Given the description of an element on the screen output the (x, y) to click on. 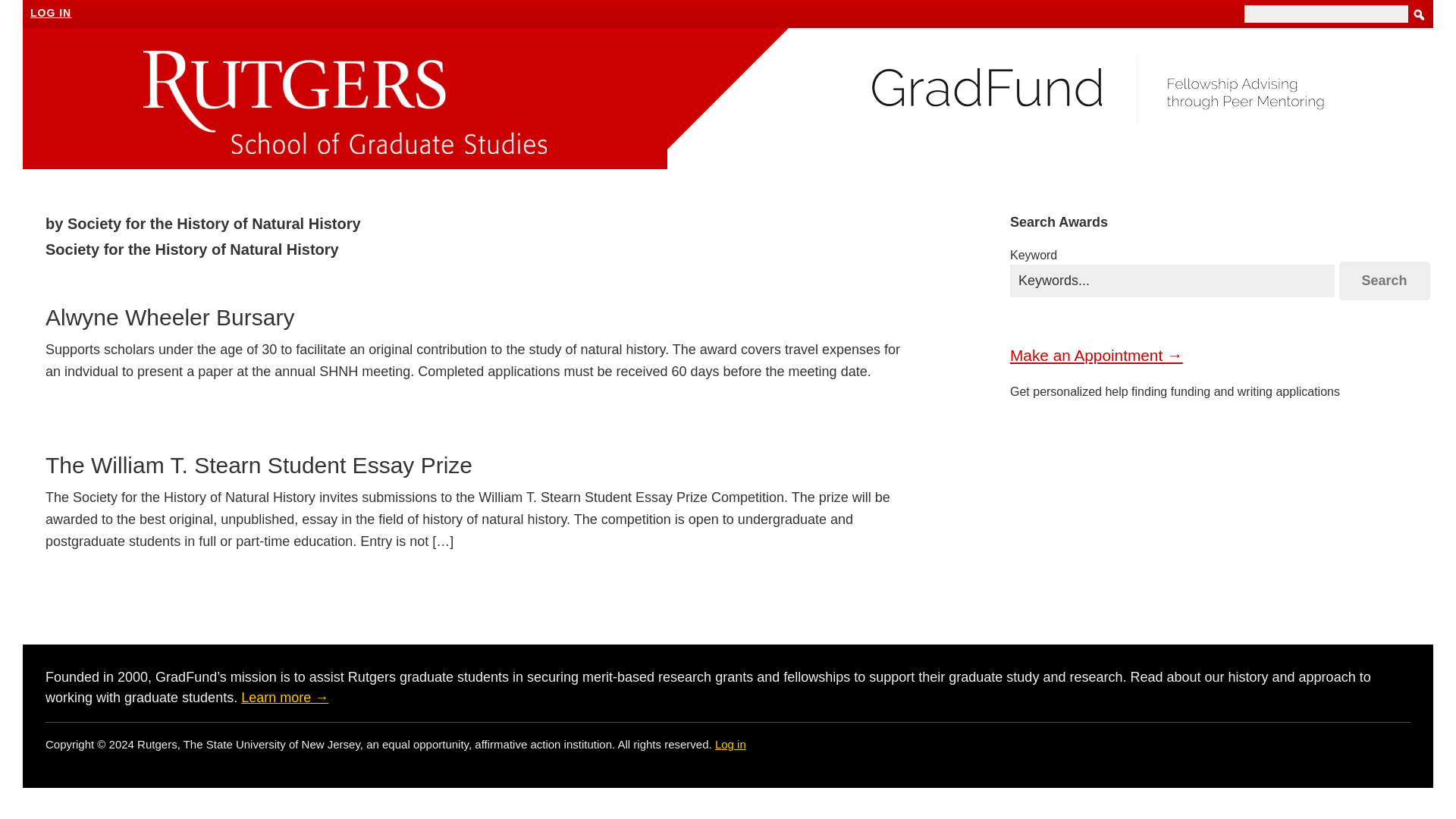
LOG IN (50, 12)
Log in (729, 744)
Search (1384, 280)
Alwyne Wheeler Bursary (169, 317)
Search (1384, 280)
The William T. Stearn Student Essay Prize (258, 464)
